Given the description of an element on the screen output the (x, y) to click on. 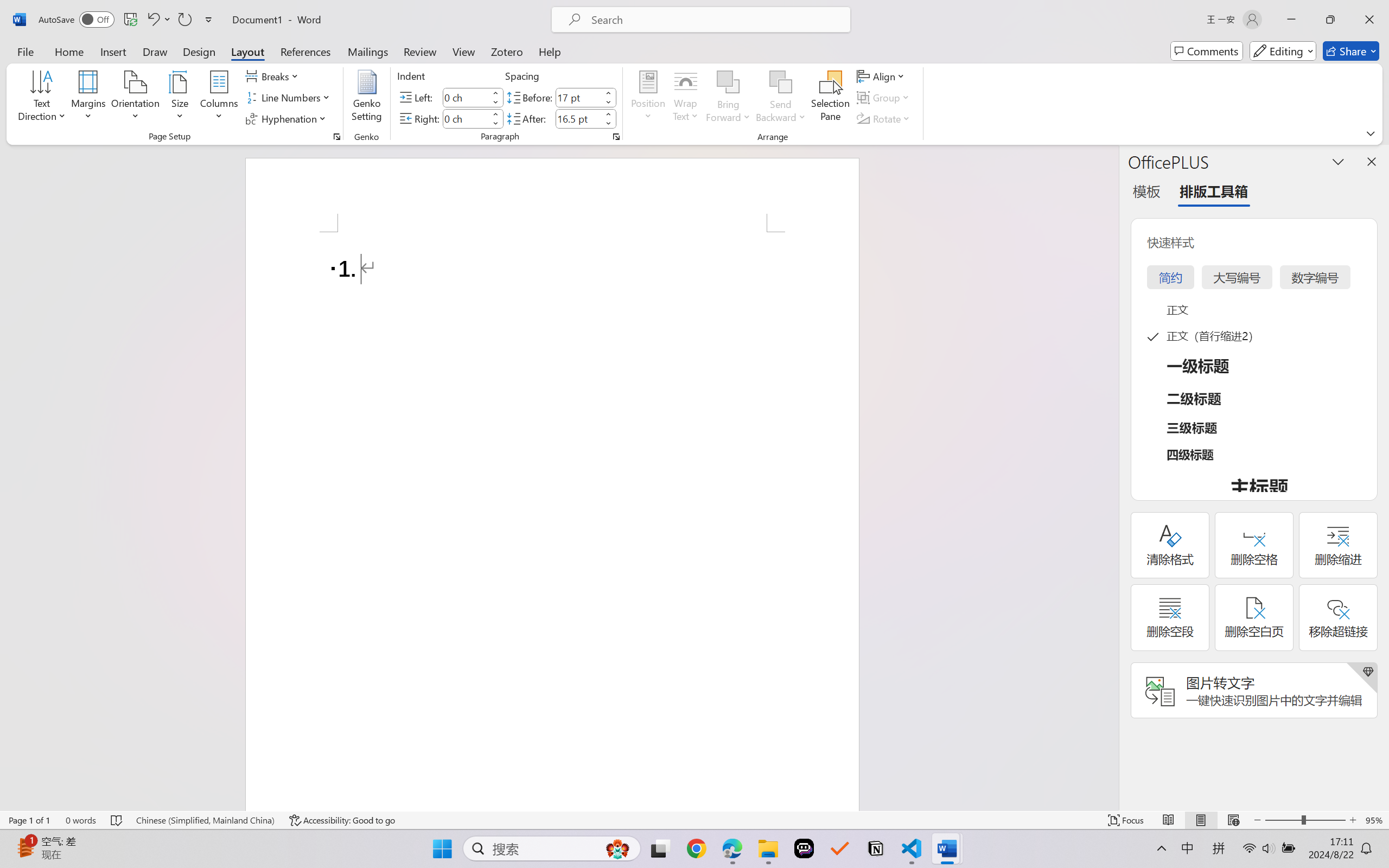
Undo Number Default (158, 19)
Position (647, 97)
Selection Pane... (830, 97)
Indent Right (465, 118)
Size (180, 97)
Margins (88, 97)
